Given the description of an element on the screen output the (x, y) to click on. 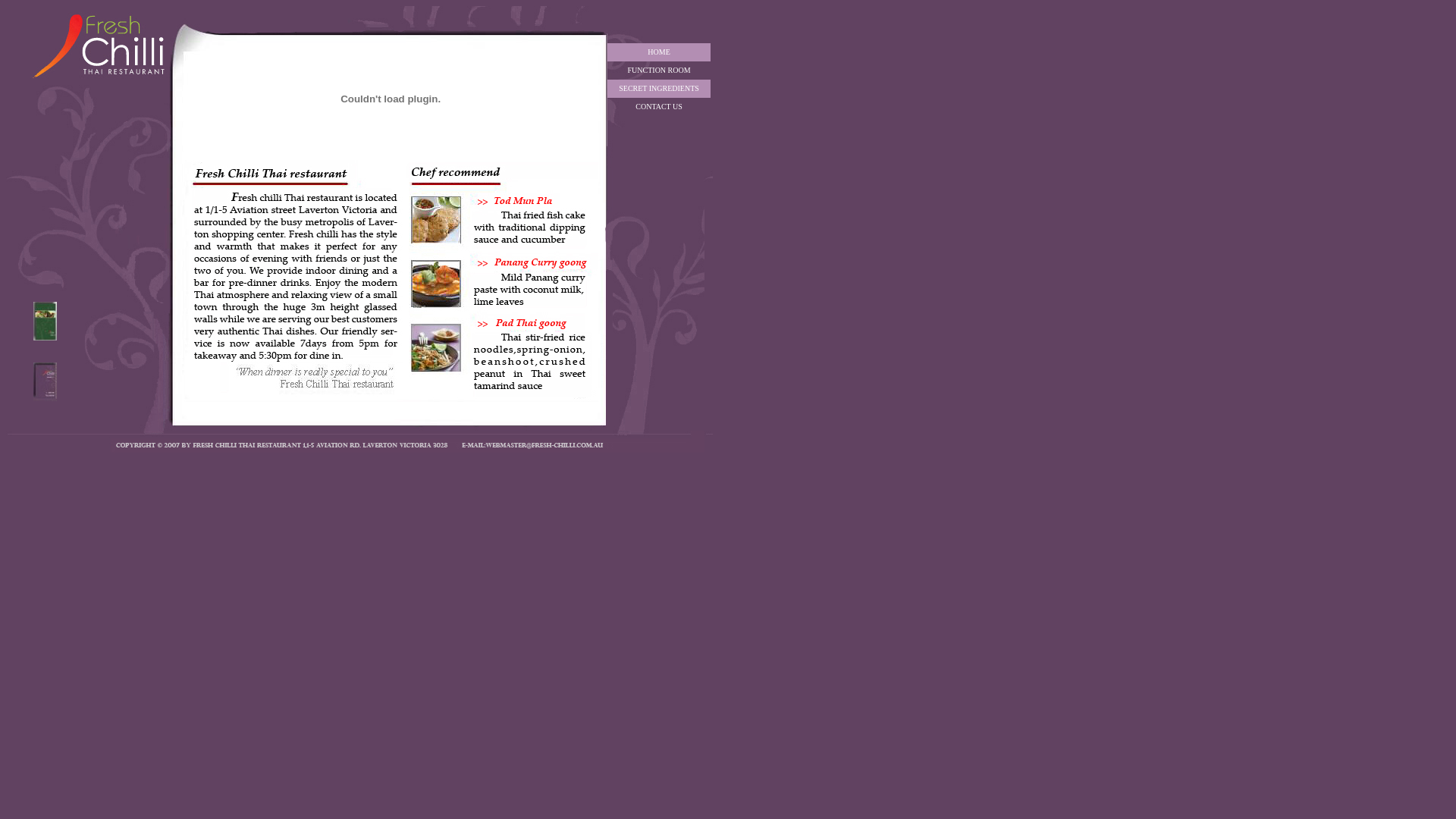
HOME Element type: text (658, 51)
FUNCTION ROOM Element type: text (658, 68)
CONTACT US Element type: text (658, 104)
SECRET INGREDIENTS Element type: text (658, 86)
